Given the description of an element on the screen output the (x, y) to click on. 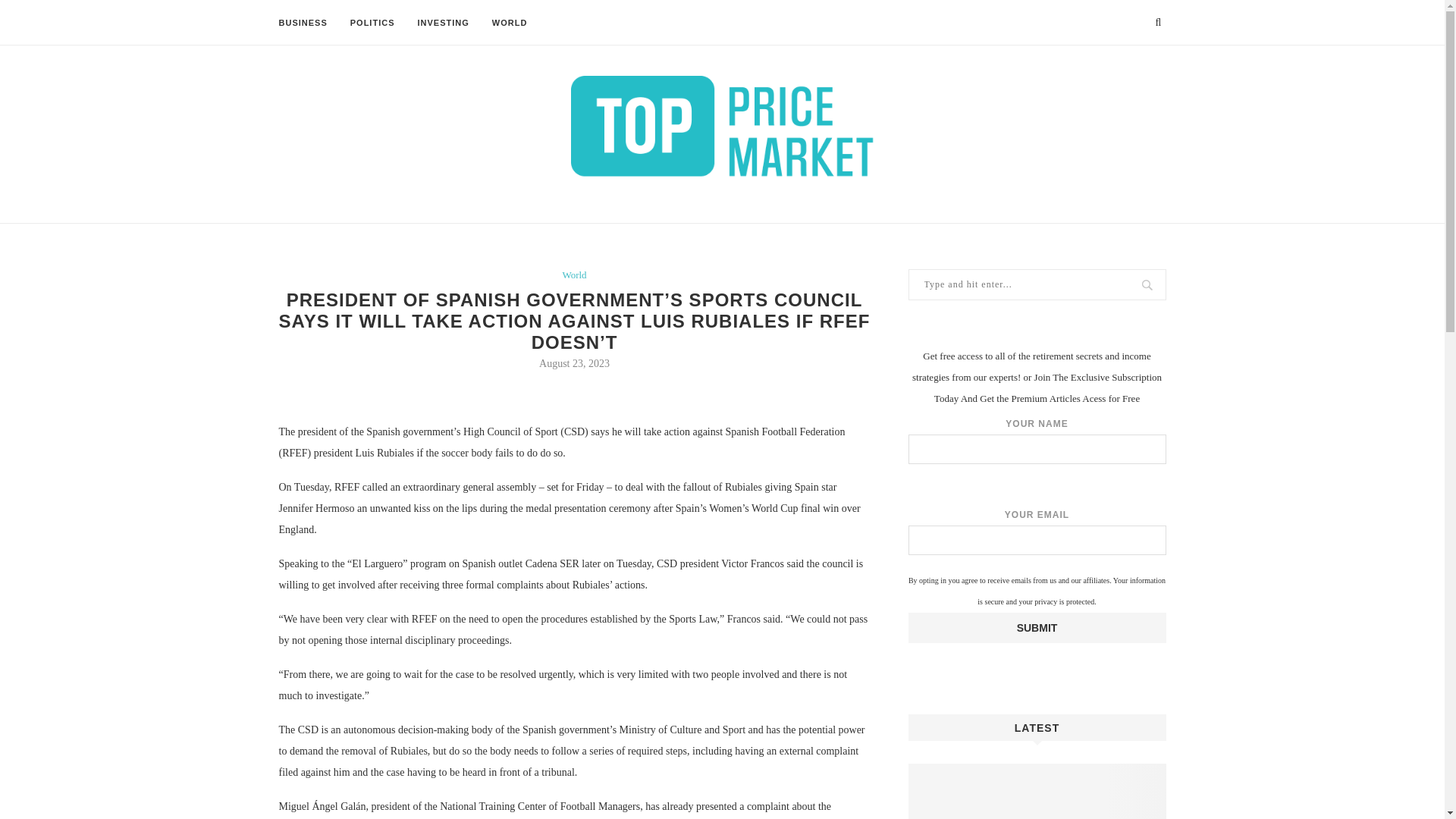
POLITICS (372, 22)
World (574, 275)
Submit (1037, 627)
BUSINESS (303, 22)
INVESTING (442, 22)
